Given the description of an element on the screen output the (x, y) to click on. 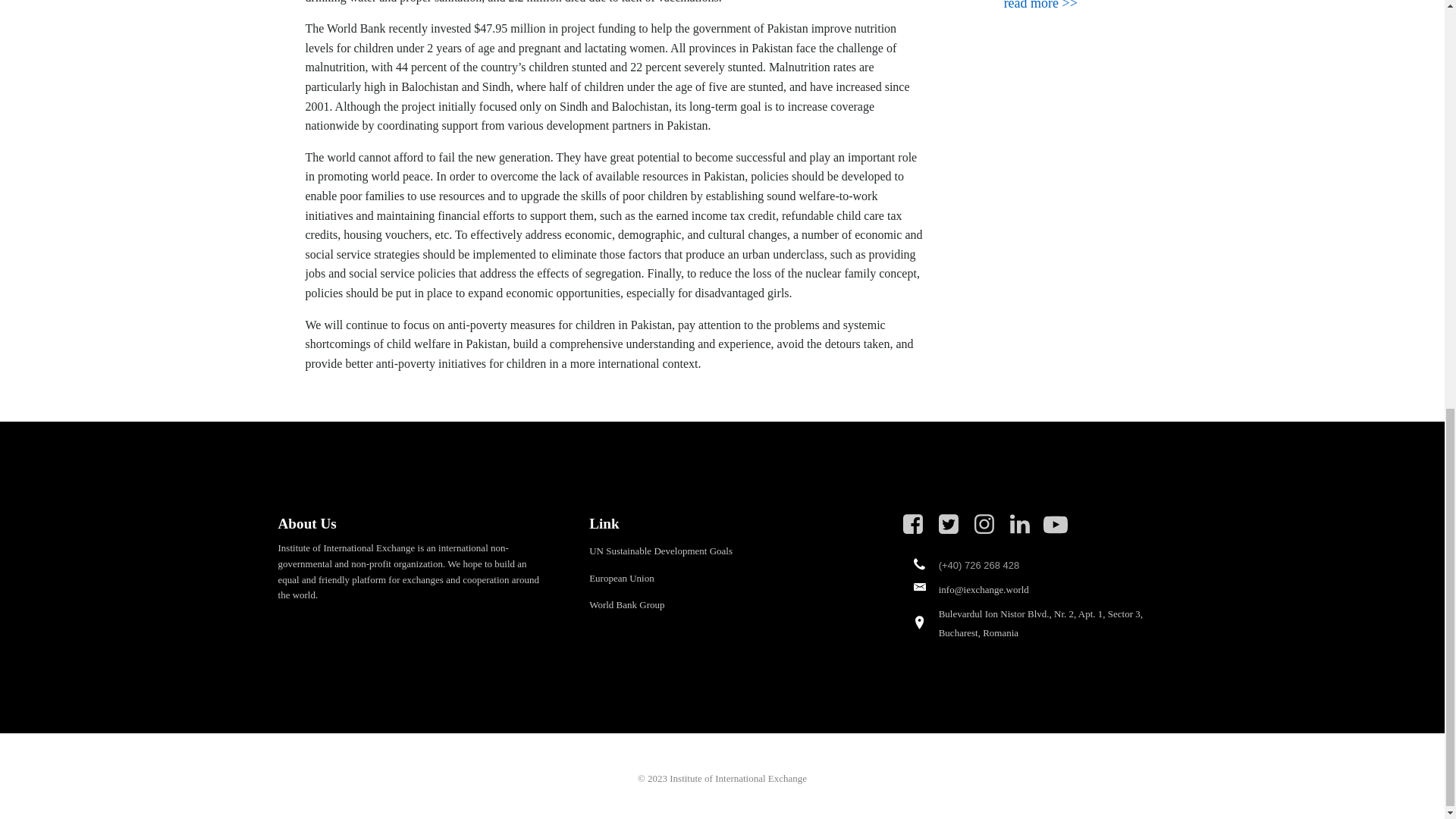
UN Sustainable Development Goals (660, 550)
World Bank Group (626, 604)
European Union (621, 578)
